Given the description of an element on the screen output the (x, y) to click on. 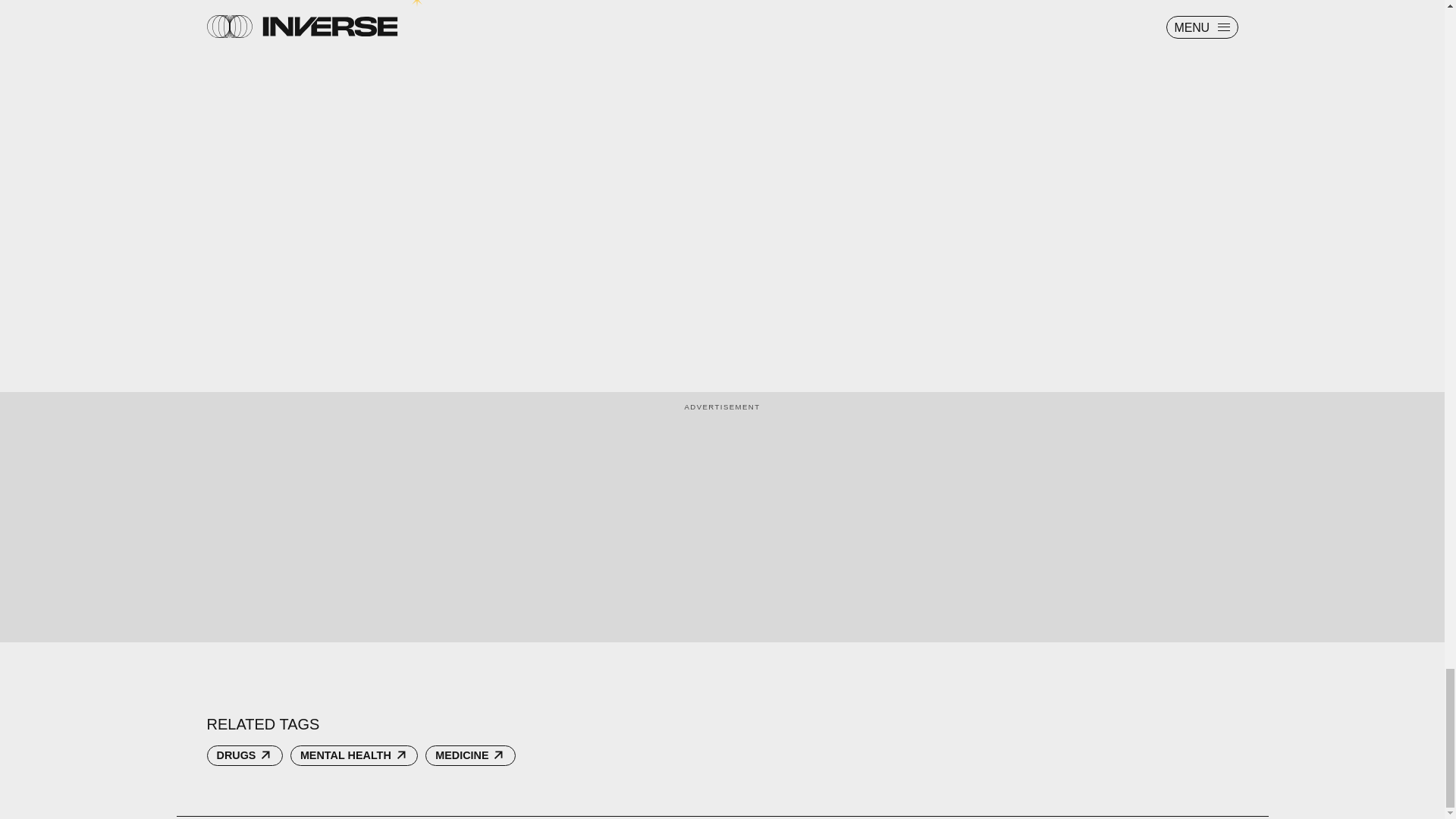
DRUGS (244, 755)
MENTAL HEALTH (353, 755)
MEDICINE (470, 755)
